Given the description of an element on the screen output the (x, y) to click on. 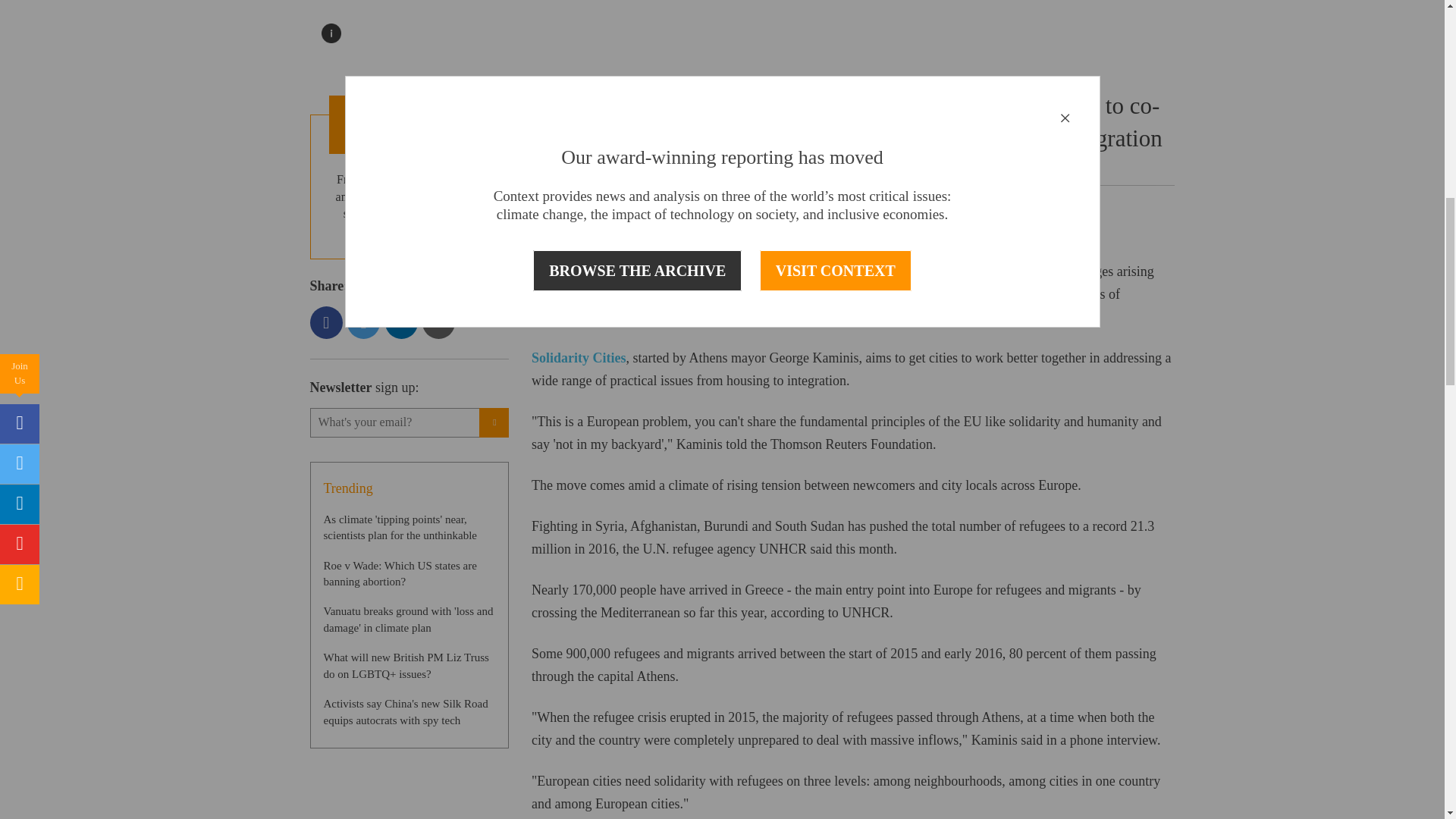
Vanuatu breaks ground with 'loss and damage' in climate plan (408, 619)
ABOUT OUR HUMANITARIAN CRISES COVERAGE (409, 124)
Roe v Wade: Which US states are banning abortion? (399, 573)
